Given the description of an element on the screen output the (x, y) to click on. 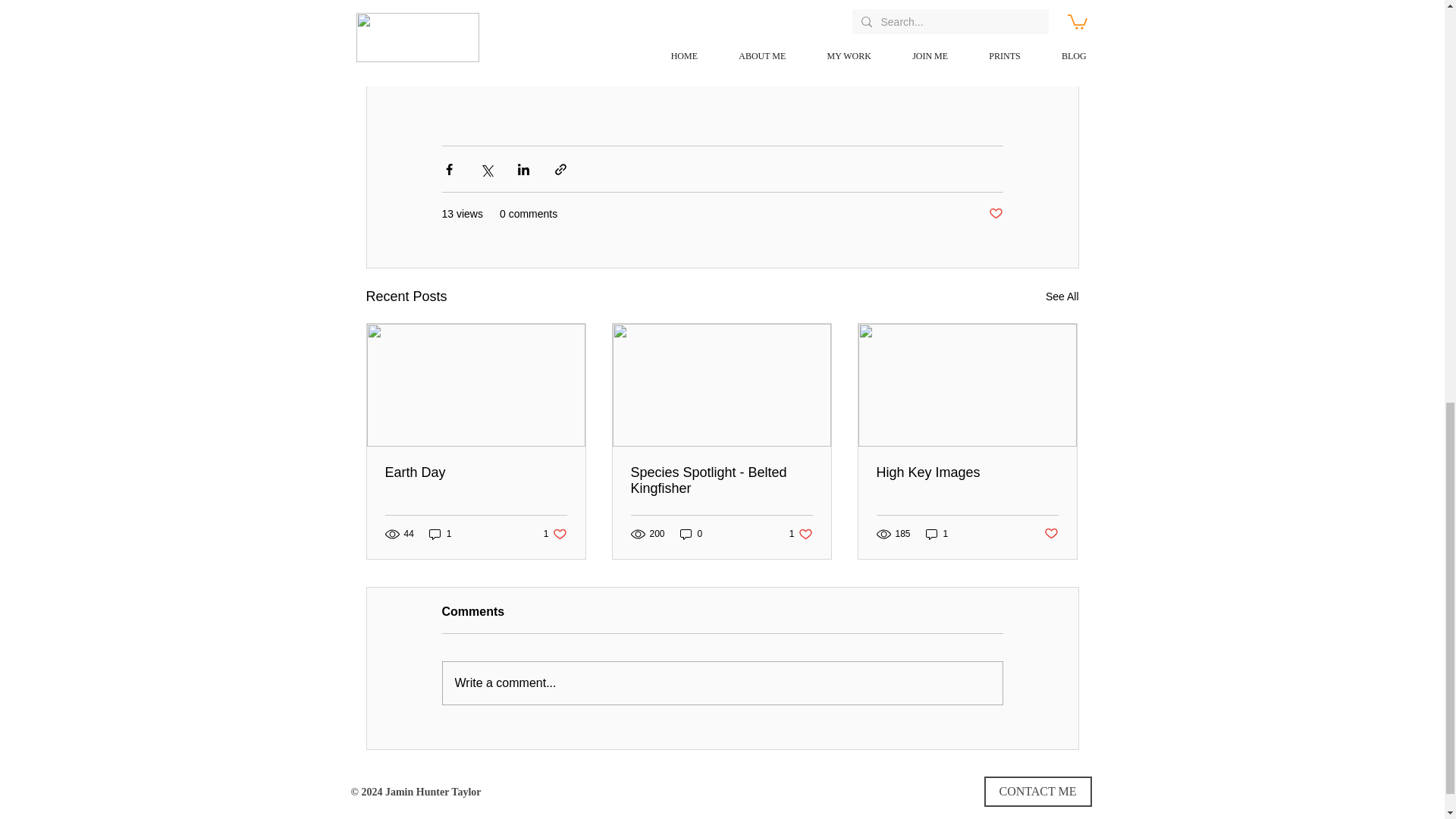
Species Spotlight - Belted Kingfisher (721, 480)
Post not marked as liked (555, 533)
See All (995, 213)
1 (1061, 296)
0 (937, 533)
Post not marked as liked (691, 533)
Write a comment... (1050, 534)
High Key Images (722, 682)
Earth Day (967, 472)
1 (476, 472)
